Given the description of an element on the screen output the (x, y) to click on. 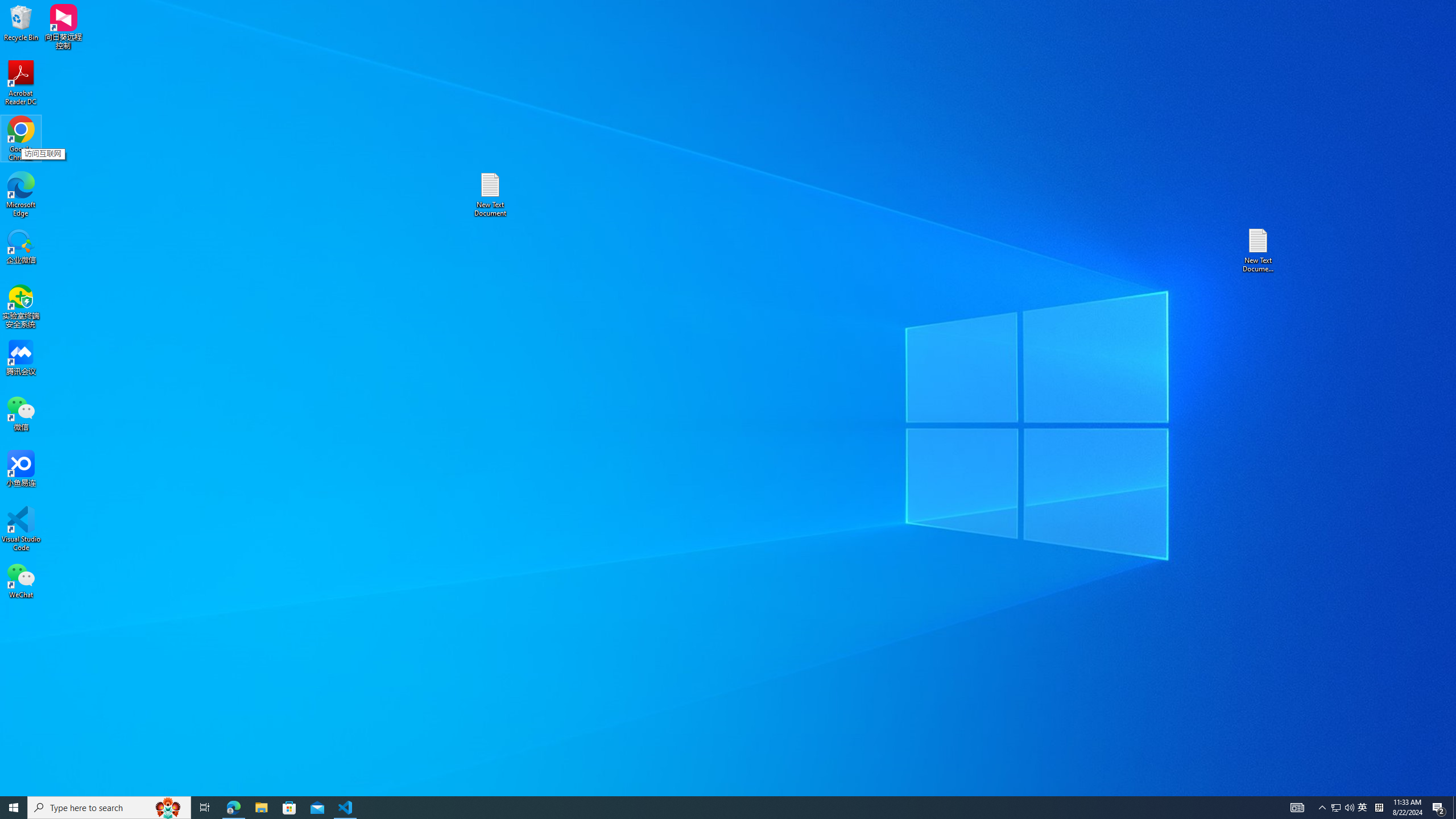
Acrobat Reader DC (21, 82)
Recycle Bin (21, 22)
